Given the description of an element on the screen output the (x, y) to click on. 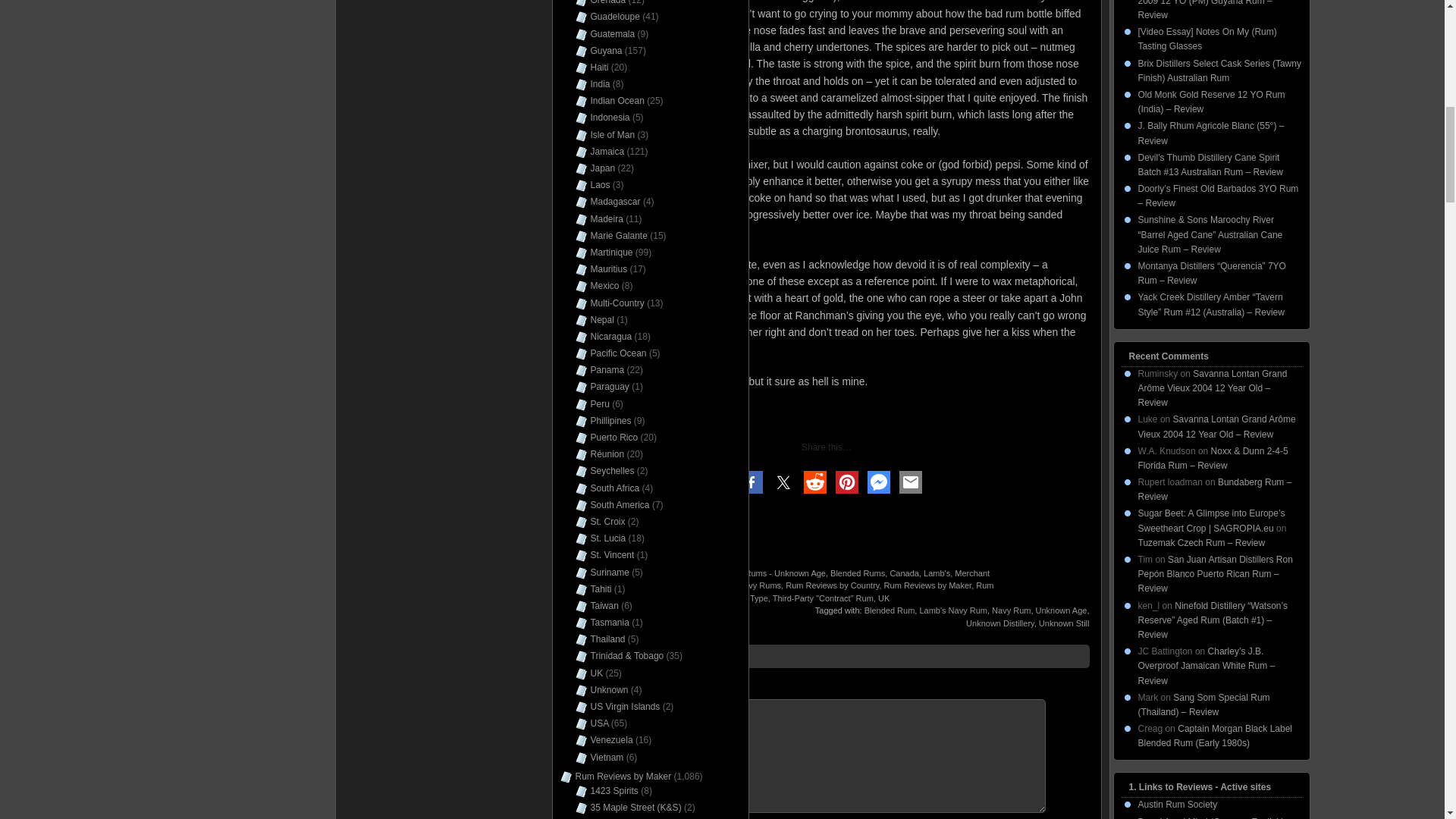
Lamb's (936, 573)
Blended Rums (857, 573)
Lamb's Navy Rum (952, 610)
Rum Reviews by Type (849, 591)
backdoor (638, 573)
Aged Rums - Unknown Age (774, 573)
Merchant Bottlers (847, 579)
UK (883, 597)
Navy Rums (759, 584)
Blended Rum (889, 610)
